Given the description of an element on the screen output the (x, y) to click on. 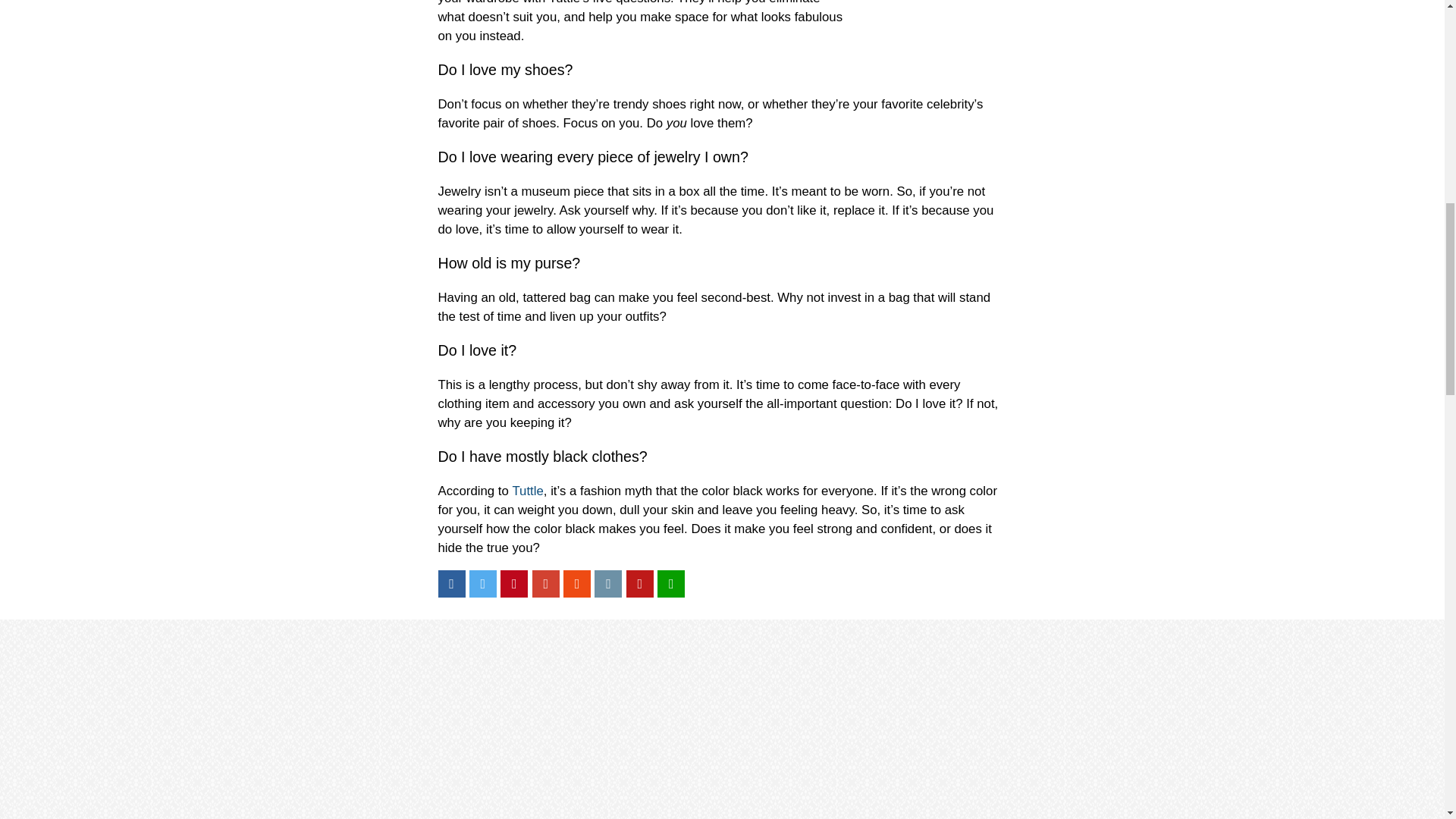
3rd party ad content (972, 25)
